Given the description of an element on the screen output the (x, y) to click on. 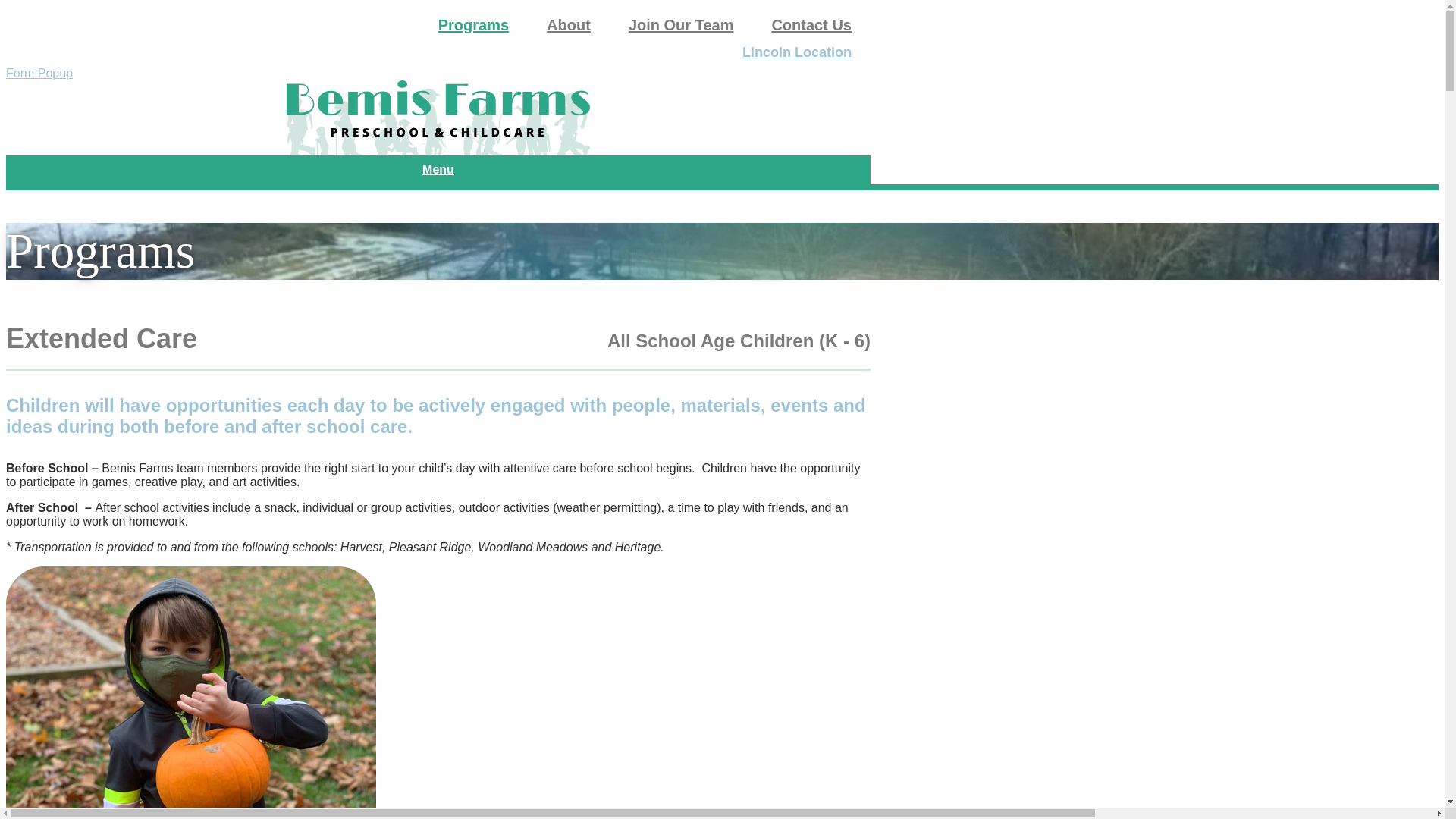
Programs (473, 20)
Lincoln Location (797, 49)
Home (437, 117)
Form Popup (38, 72)
Join Our Team (681, 20)
Contact Us (810, 20)
About (568, 20)
